Given the description of an element on the screen output the (x, y) to click on. 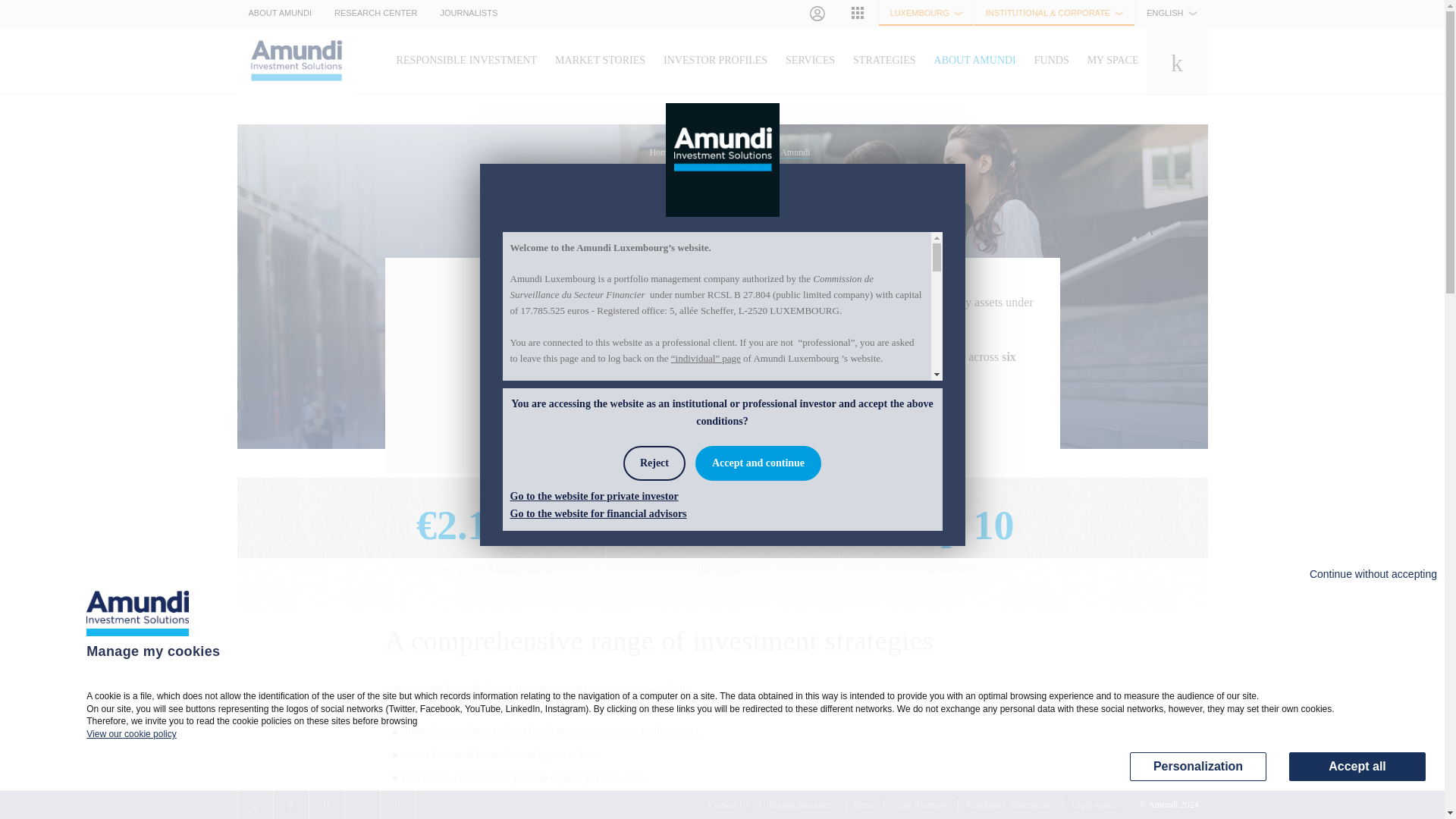
Continue without accepting (1372, 574)
Linkedin (360, 805)
Instagram (397, 805)
Facebook (255, 805)
JOURNALISTS (468, 12)
View our cookie policy (130, 733)
ABOUT AMUNDI (279, 12)
Accept all (1356, 766)
Twitter (290, 805)
Personalization (1197, 766)
